Given the description of an element on the screen output the (x, y) to click on. 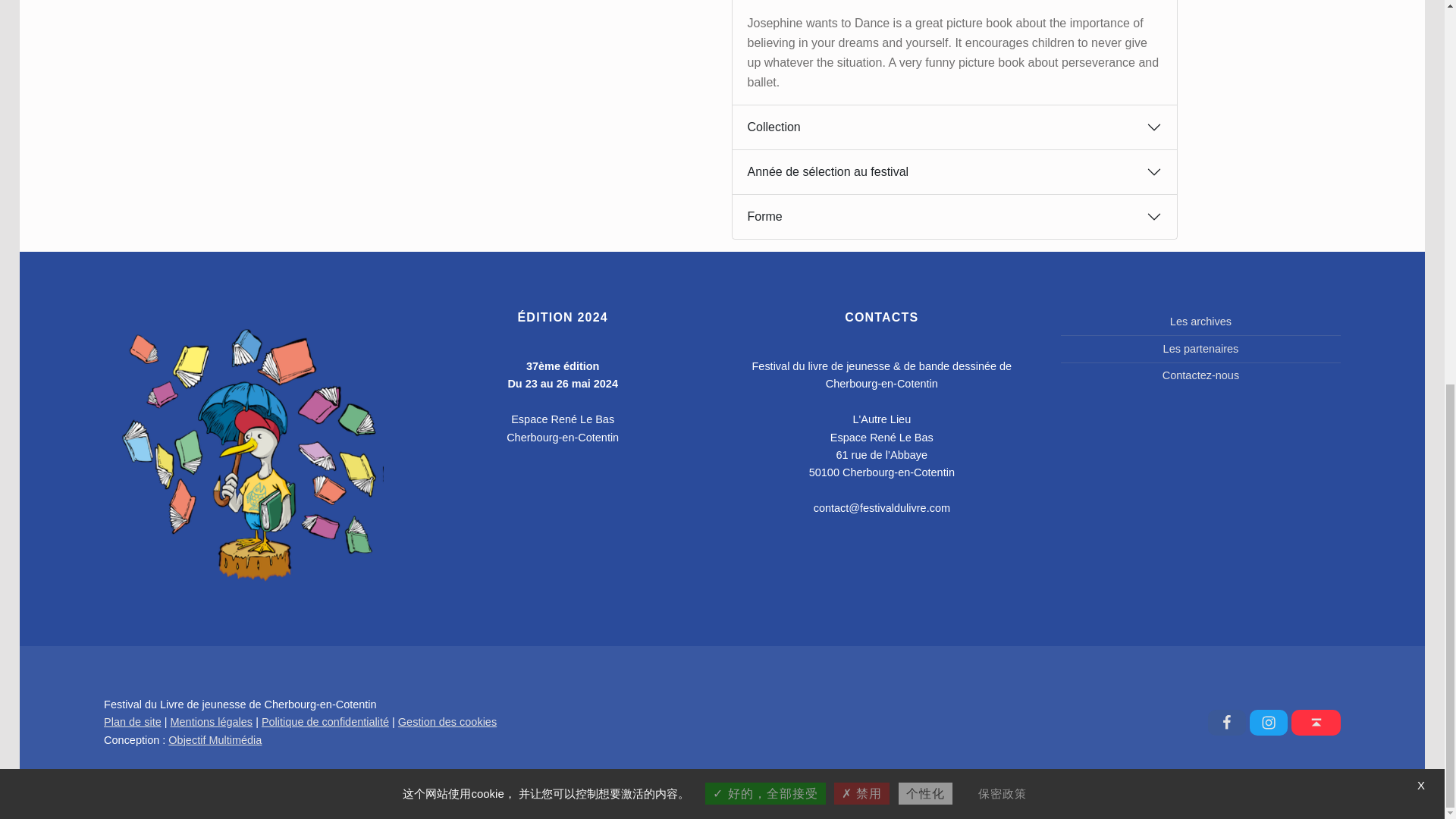
Gestion des cookies (446, 721)
Back to top (1316, 722)
Contactez-nous (1200, 375)
Les archives (1200, 321)
Les partenaires (1201, 348)
Plan de site (132, 721)
